Given the description of an element on the screen output the (x, y) to click on. 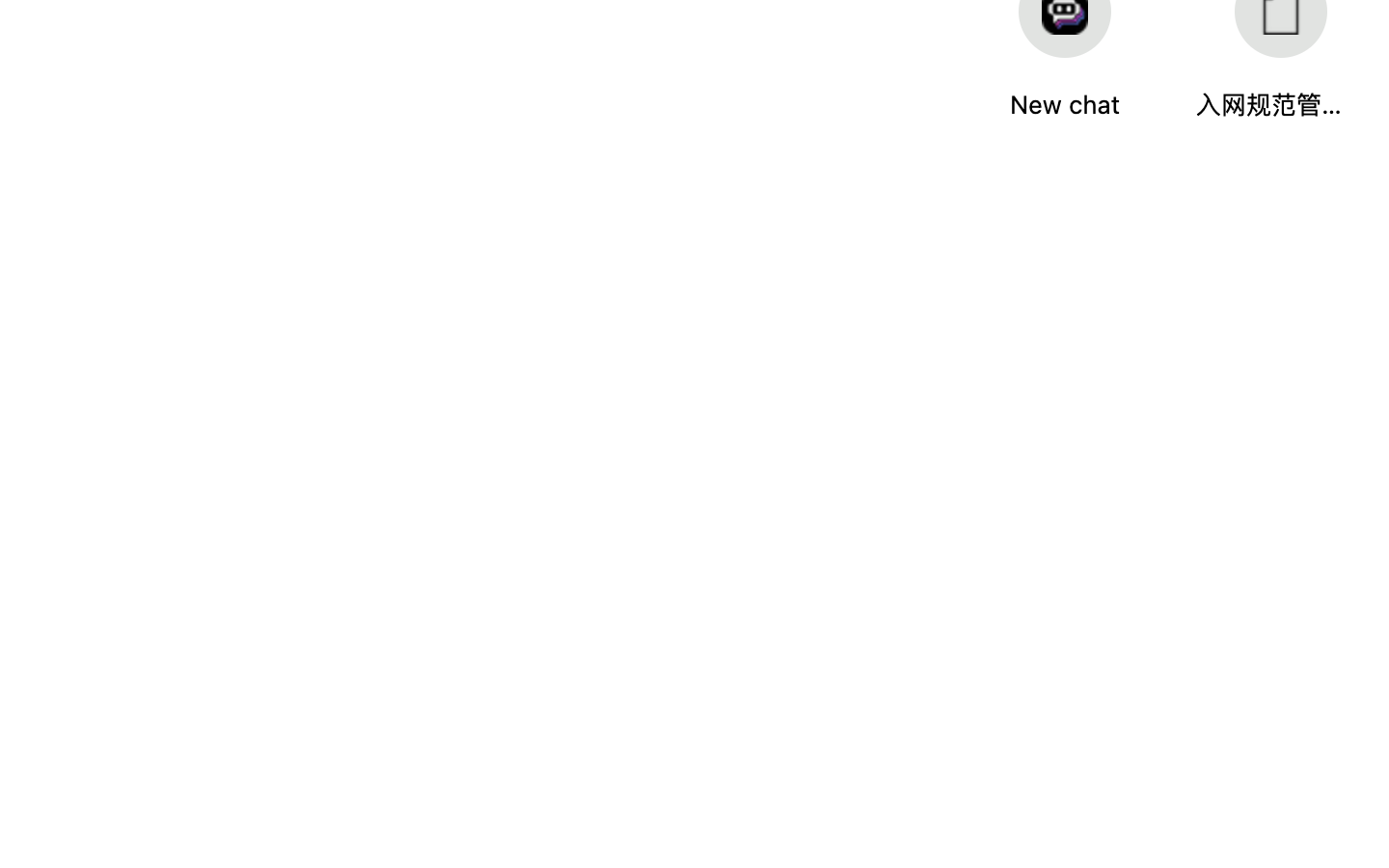
New chat Element type: AXStaticText (1064, 104)
入网规范管理平台 Element type: AXStaticText (1269, 104)
